Given the description of an element on the screen output the (x, y) to click on. 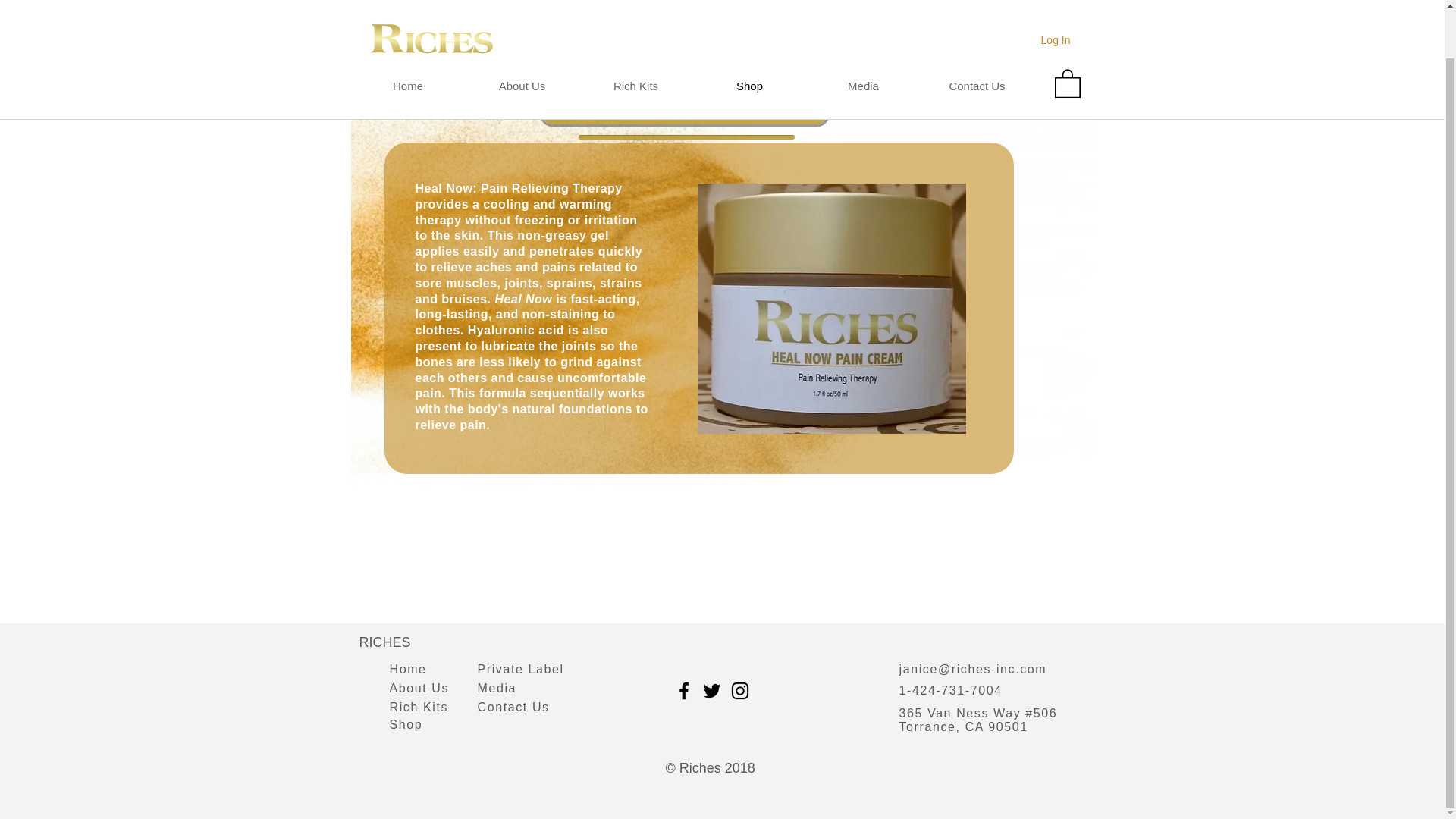
Shop (406, 724)
Rich Kits (636, 34)
Contact Us (976, 34)
Home (408, 668)
About Us (419, 687)
Media (496, 687)
Heal Now Pain Cream (683, 100)
About Us (522, 34)
Private Label (520, 668)
Shop (749, 34)
Rich Kits (419, 707)
Media (863, 34)
Contact Us (513, 707)
Home (407, 34)
